Given the description of an element on the screen output the (x, y) to click on. 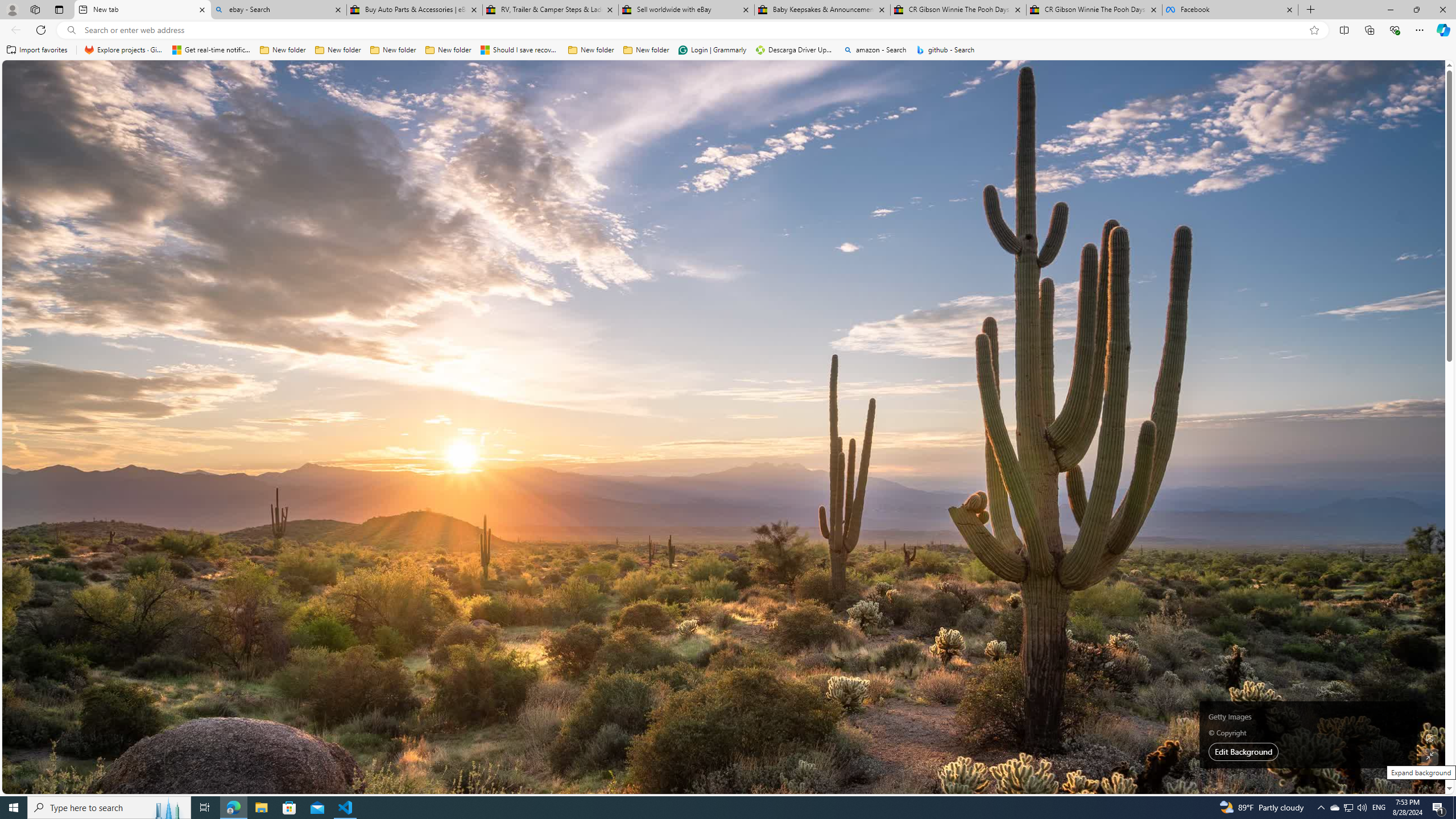
View comments 167 Comment (6, 327)
AutomationID: tab-17 (435, 328)
New folder (646, 49)
View comments 16 Comment (710, 685)
Daily (1052, 233)
Partly cloudy (1014, 208)
